Given the description of an element on the screen output the (x, y) to click on. 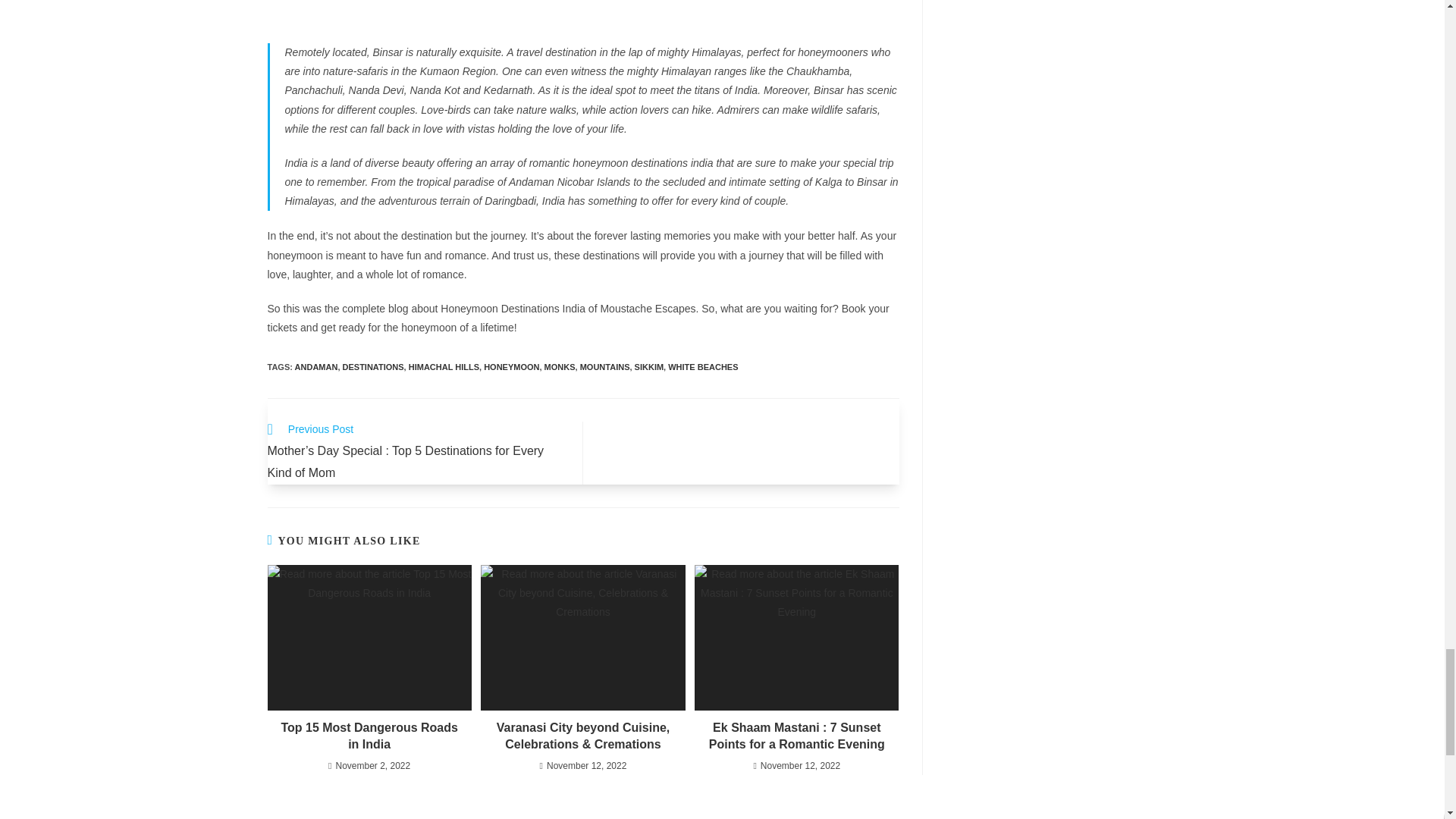
SIKKIM (648, 366)
Top 15 Most Dangerous Roads in India (368, 736)
MOUNTAINS (604, 366)
DESTINATIONS (373, 366)
HONEYMOON (510, 366)
MONKS (559, 366)
ANDAMAN (316, 366)
HIMACHAL HILLS (444, 366)
WHITE BEACHES (703, 366)
Ek Shaam Mastani : 7 Sunset Points for a Romantic Evening (796, 736)
